Given the description of an element on the screen output the (x, y) to click on. 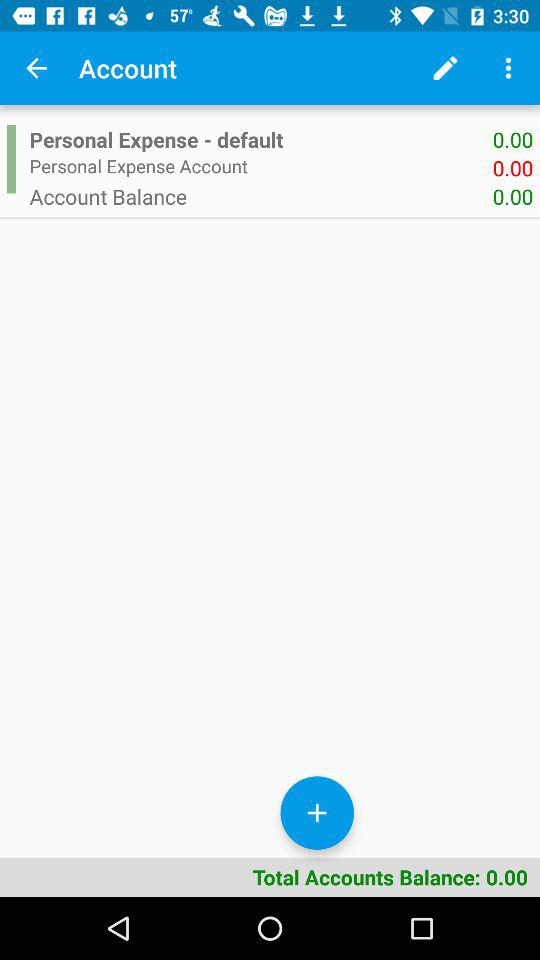
tap icon next to personal expense - default item (11, 159)
